Given the description of an element on the screen output the (x, y) to click on. 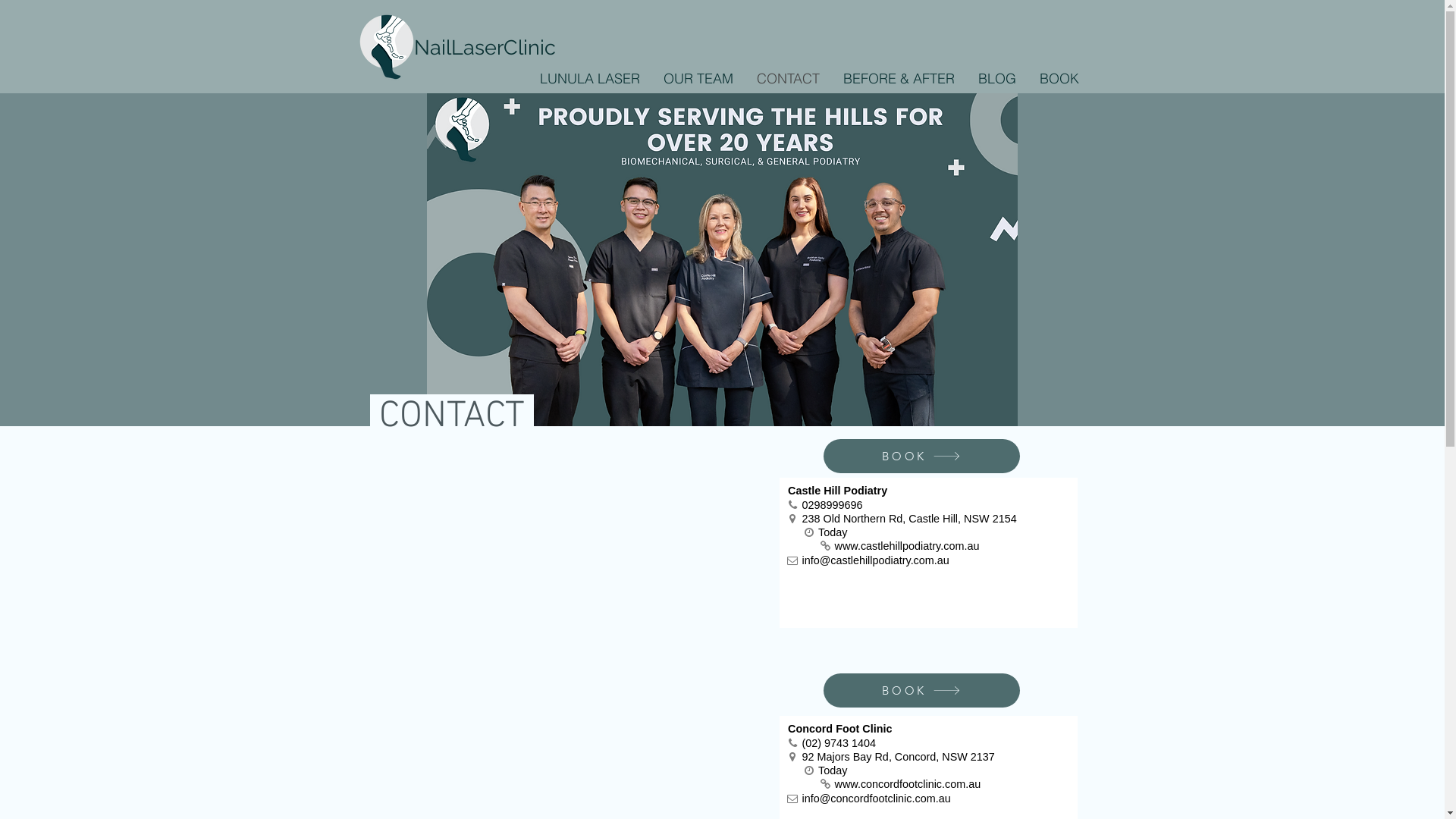
Online Business Card Element type: hover (928, 552)
BOOK Element type: text (921, 690)
BOOK Element type: text (921, 456)
CONTACT Element type: text (787, 78)
Google Maps Element type: hover (568, 552)
BLOG Element type: text (996, 78)
LUNULA LASER Element type: text (589, 78)
NailLaserClinic Element type: text (484, 46)
BOOK Element type: text (1057, 78)
BEFORE & AFTER Element type: text (898, 78)
OUR TEAM Element type: text (696, 78)
